Given the description of an element on the screen output the (x, y) to click on. 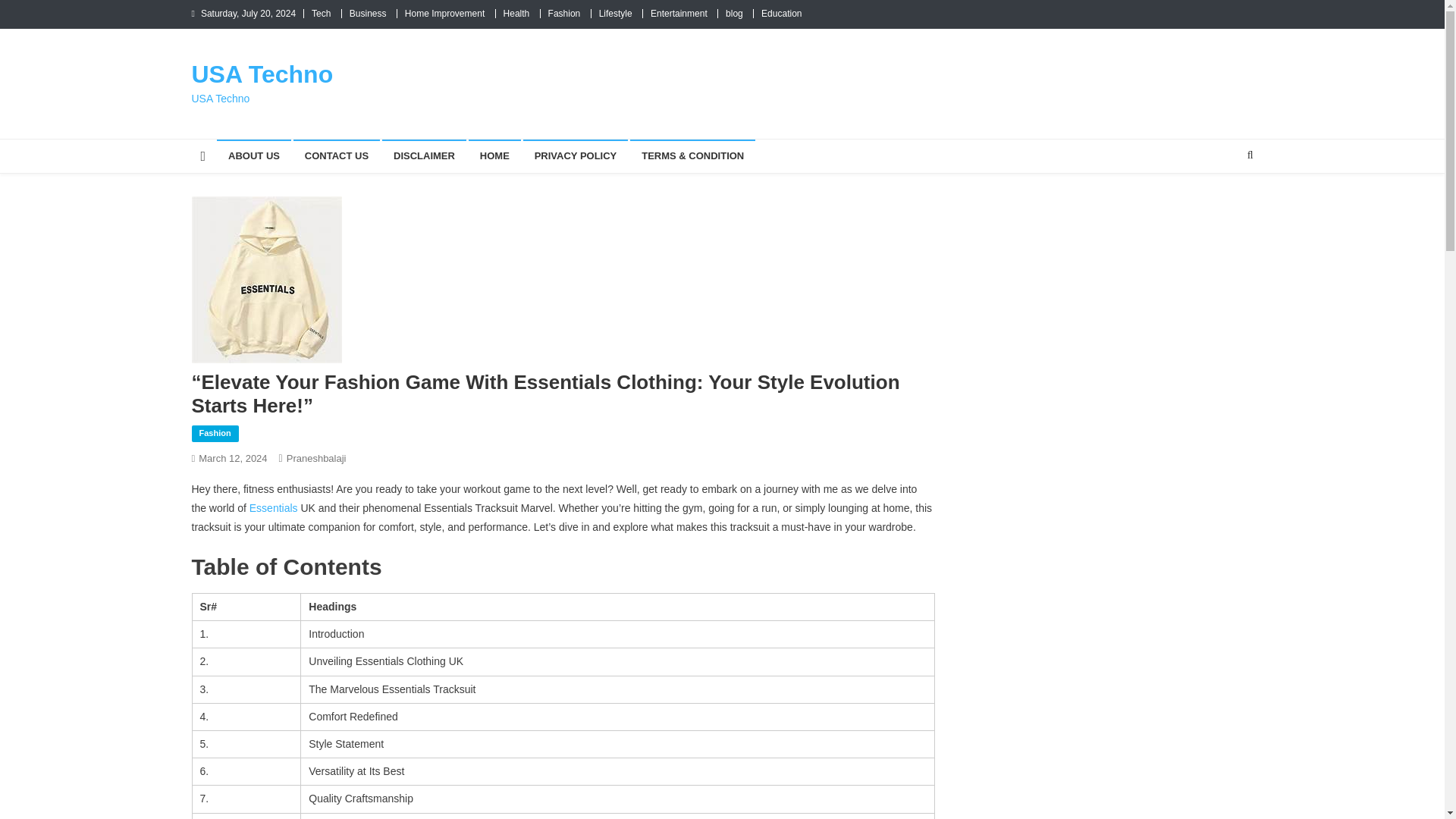
PRIVACY POLICY (575, 155)
Praneshbalaji (316, 458)
Fashion (564, 13)
DISCLAIMER (423, 155)
Fashion (214, 433)
Search (1221, 205)
ABOUT US (253, 155)
Education (781, 13)
Health (516, 13)
Tech (320, 13)
Entertainment (678, 13)
Home Improvement (444, 13)
March 12, 2024 (232, 458)
Essentials (273, 508)
